Given the description of an element on the screen output the (x, y) to click on. 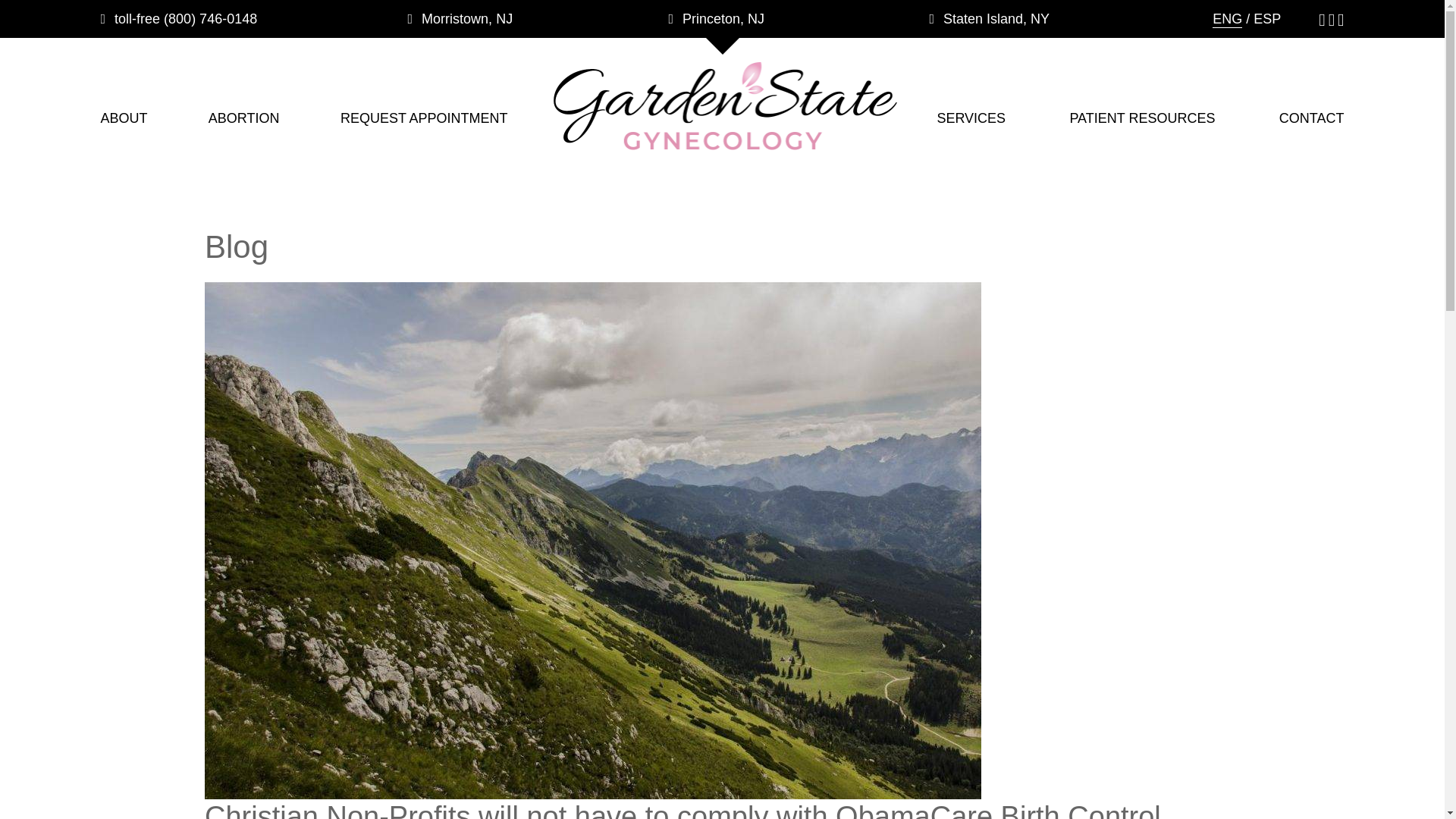
Morristown, NJ (460, 18)
ABORTION (243, 118)
REQUEST APPOINTMENT (424, 118)
ESP (1267, 19)
ENG (1226, 19)
CONTACT (1311, 118)
PATIENT RESOURCES (1141, 118)
SERVICES (971, 118)
ABOUT (123, 118)
Expand (721, 45)
Princeton, NJ (716, 18)
Staten Island, NY (988, 18)
